Given the description of an element on the screen output the (x, y) to click on. 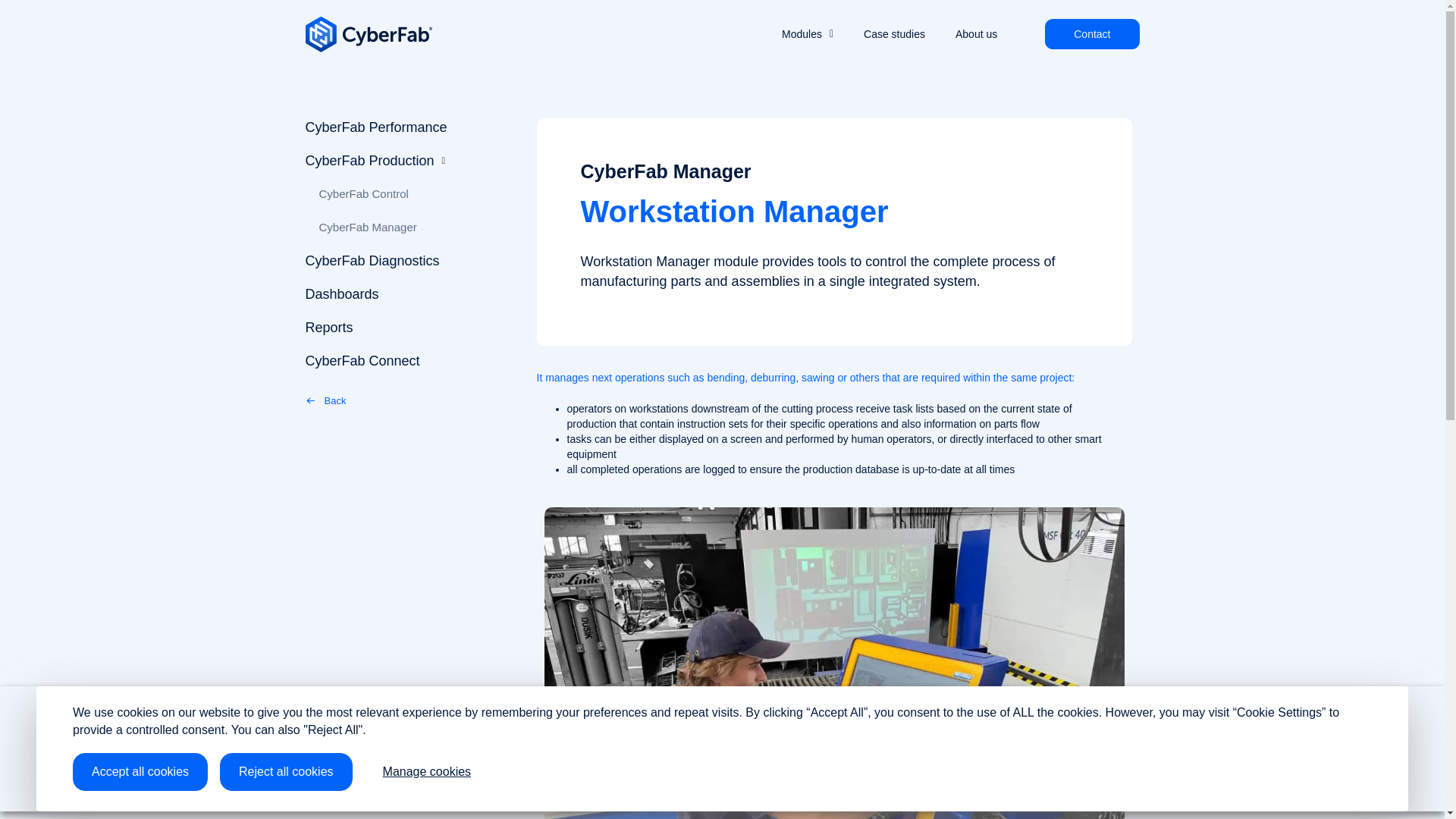
Reports (408, 327)
CyberFab Control (413, 193)
CyberFab Performance (408, 127)
CyberFab Diagnostics (408, 260)
Accept all cookies (140, 771)
Dashboards (408, 294)
Manage cookies (427, 772)
Reject all cookies (285, 771)
CyberFab Production (408, 160)
CyberFab Connect (408, 360)
